Given the description of an element on the screen output the (x, y) to click on. 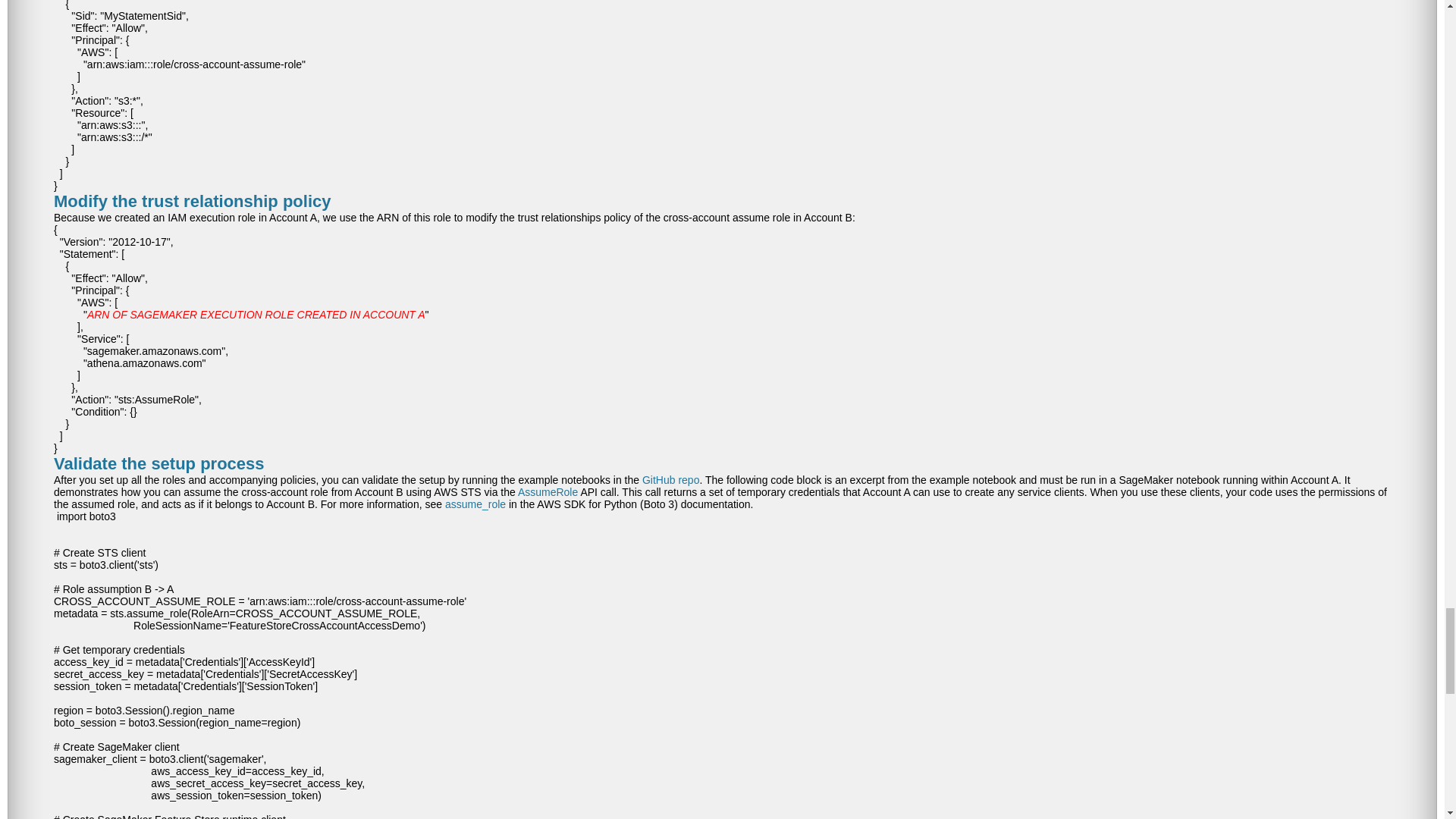
AssumeRole (548, 491)
GitHub repo (670, 480)
